Given the description of an element on the screen output the (x, y) to click on. 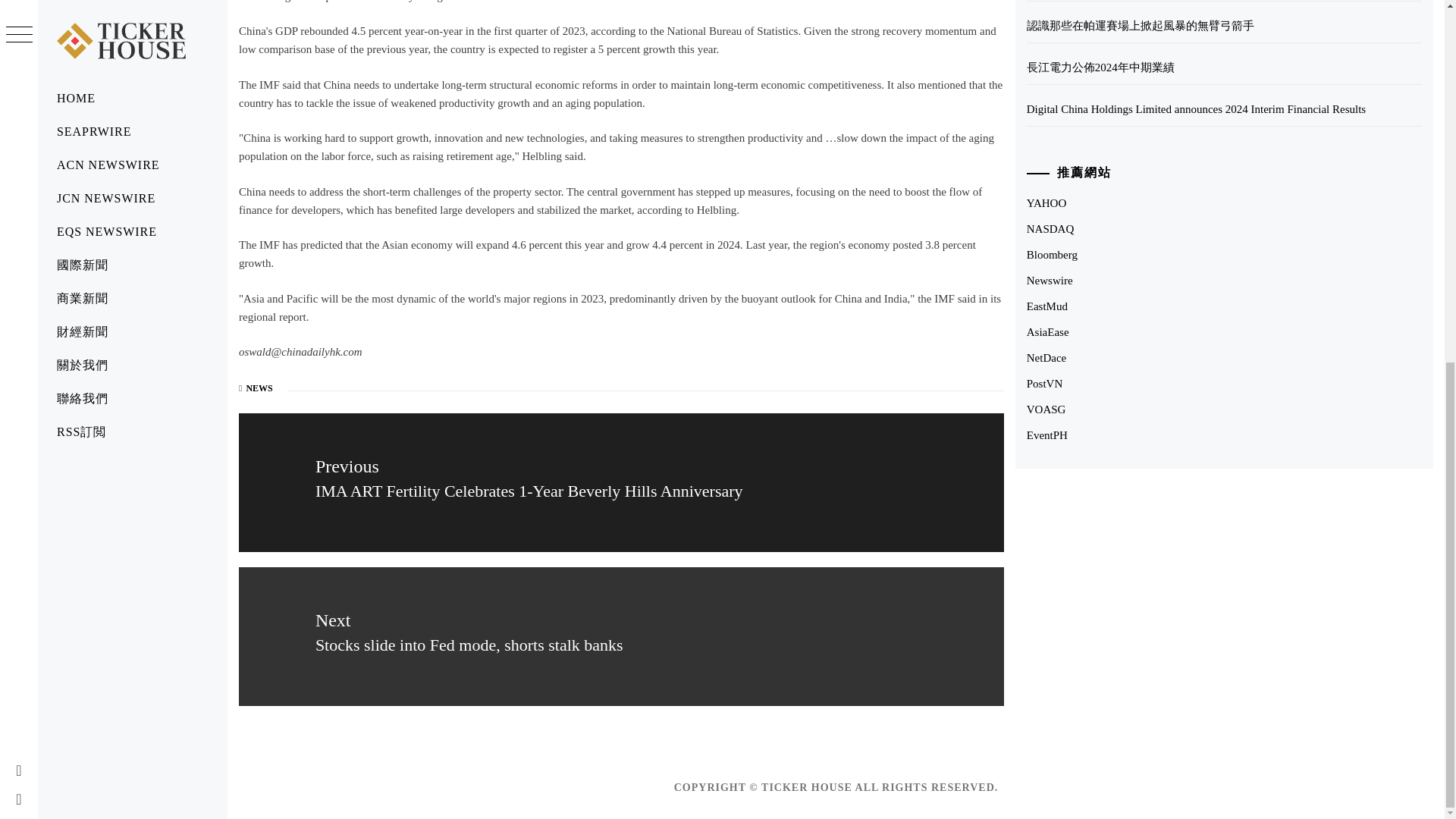
NEWS (259, 388)
Bloomberg (1051, 254)
Newswire (1049, 280)
EastMud (1046, 306)
YAHOO (1046, 203)
NASDAQ (1050, 228)
